Given the description of an element on the screen output the (x, y) to click on. 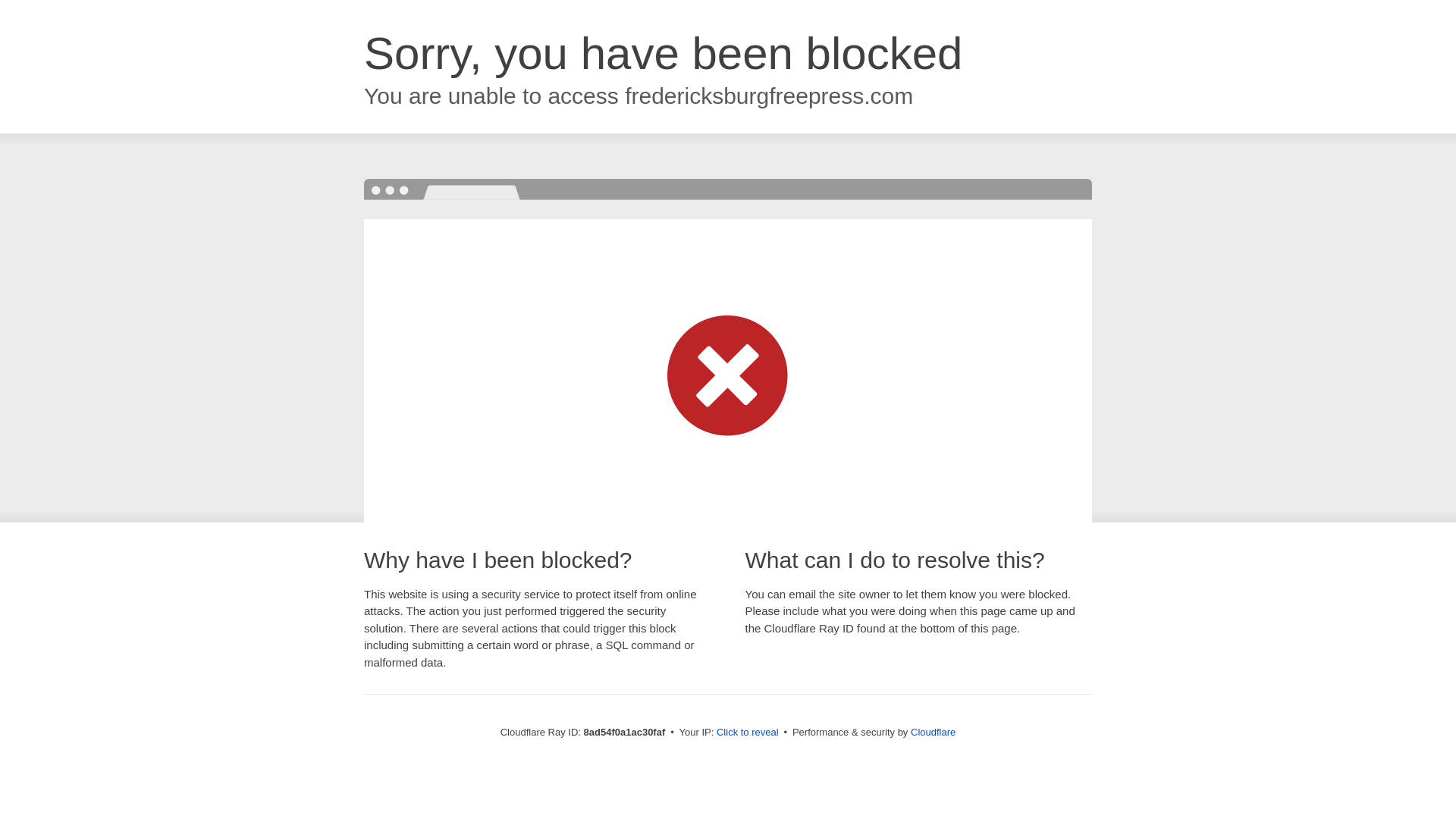
Cloudflare (933, 731)
Click to reveal (747, 732)
